Given the description of an element on the screen output the (x, y) to click on. 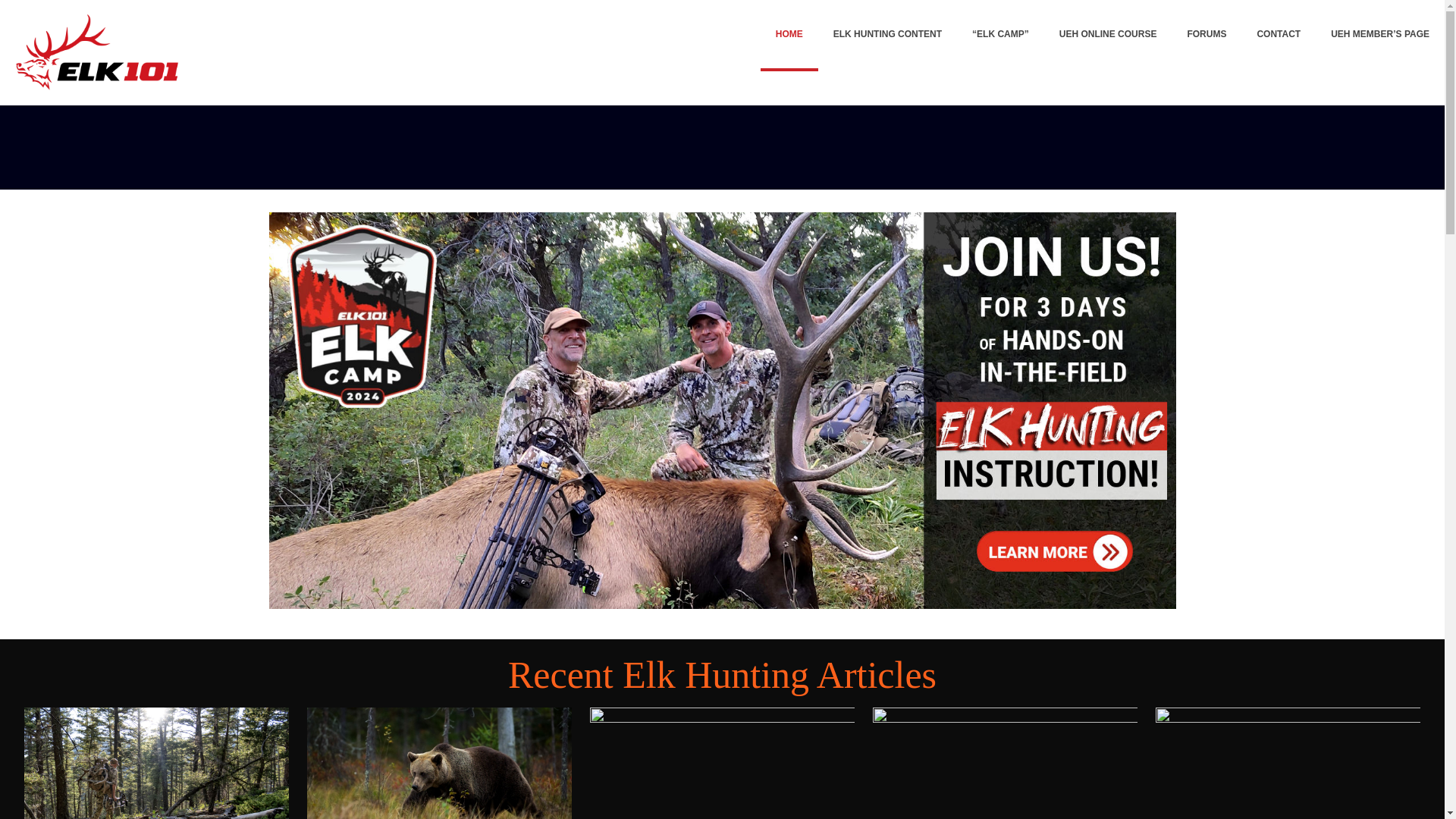
ELK HUNTING CONTENT (887, 33)
FORUMS (1206, 33)
CONTACT (1278, 33)
UEH ONLINE COURSE (1107, 33)
